Given the description of an element on the screen output the (x, y) to click on. 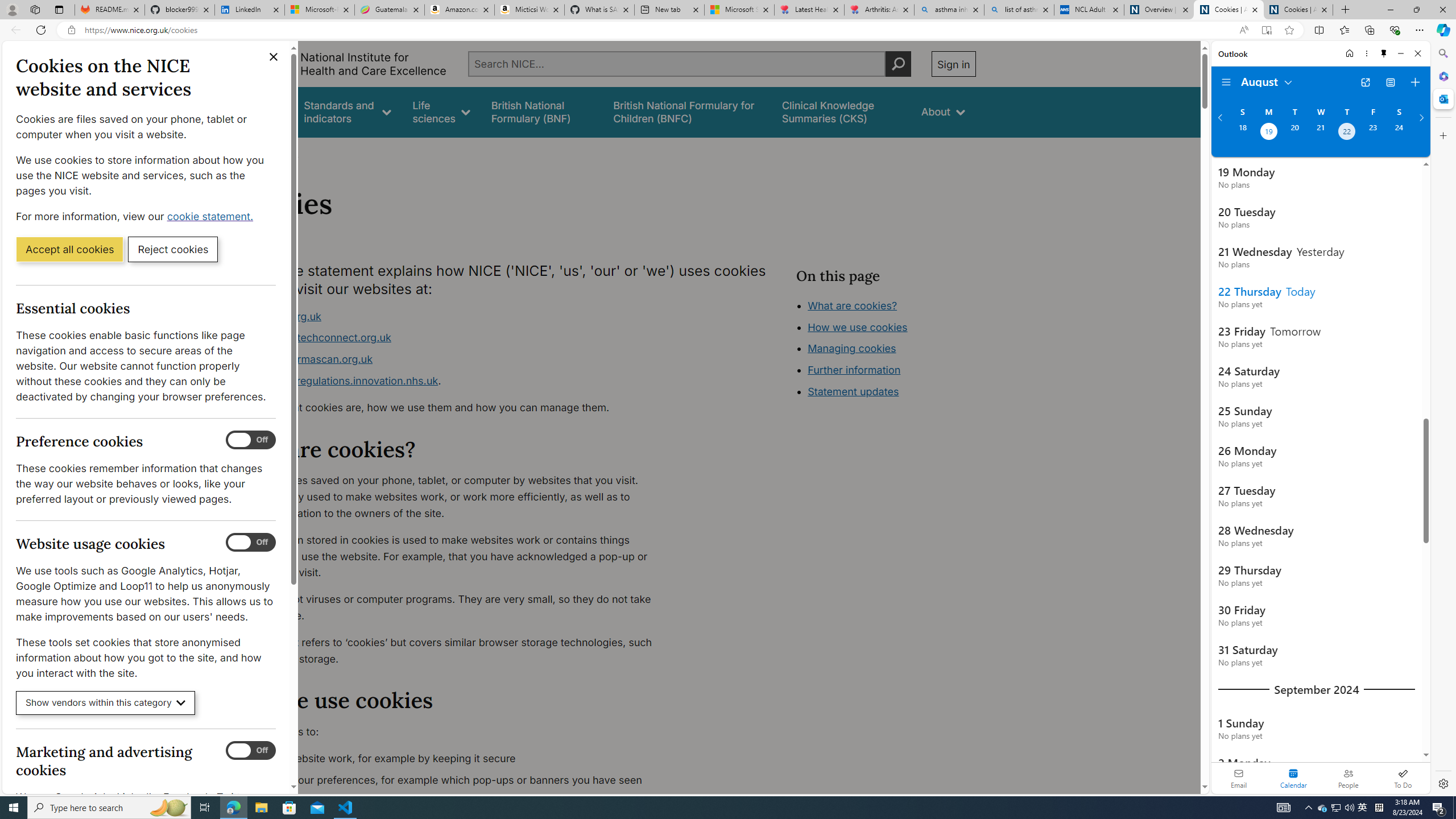
Wednesday, August 21, 2024.  (1320, 132)
www.digitalregulations.innovation.nhs.uk (338, 380)
Close cookie banner (273, 56)
View Switcher. Current view is Agenda view (1390, 82)
Email (1238, 777)
Statement updates (853, 391)
Thursday, August 22, 2024. Today.  (1346, 132)
Home> (246, 152)
